Given the description of an element on the screen output the (x, y) to click on. 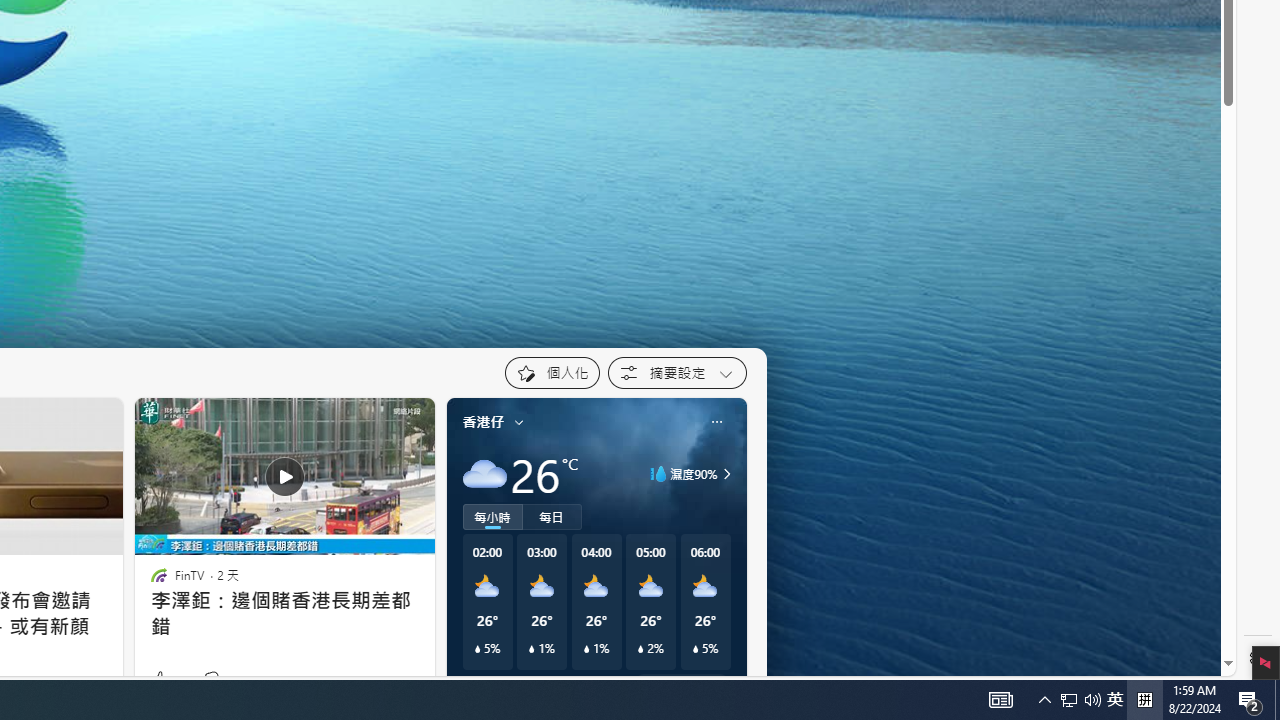
Class: weather-arrow-glyph (726, 474)
Class: icon-img (715, 421)
